Given the description of an element on the screen output the (x, y) to click on. 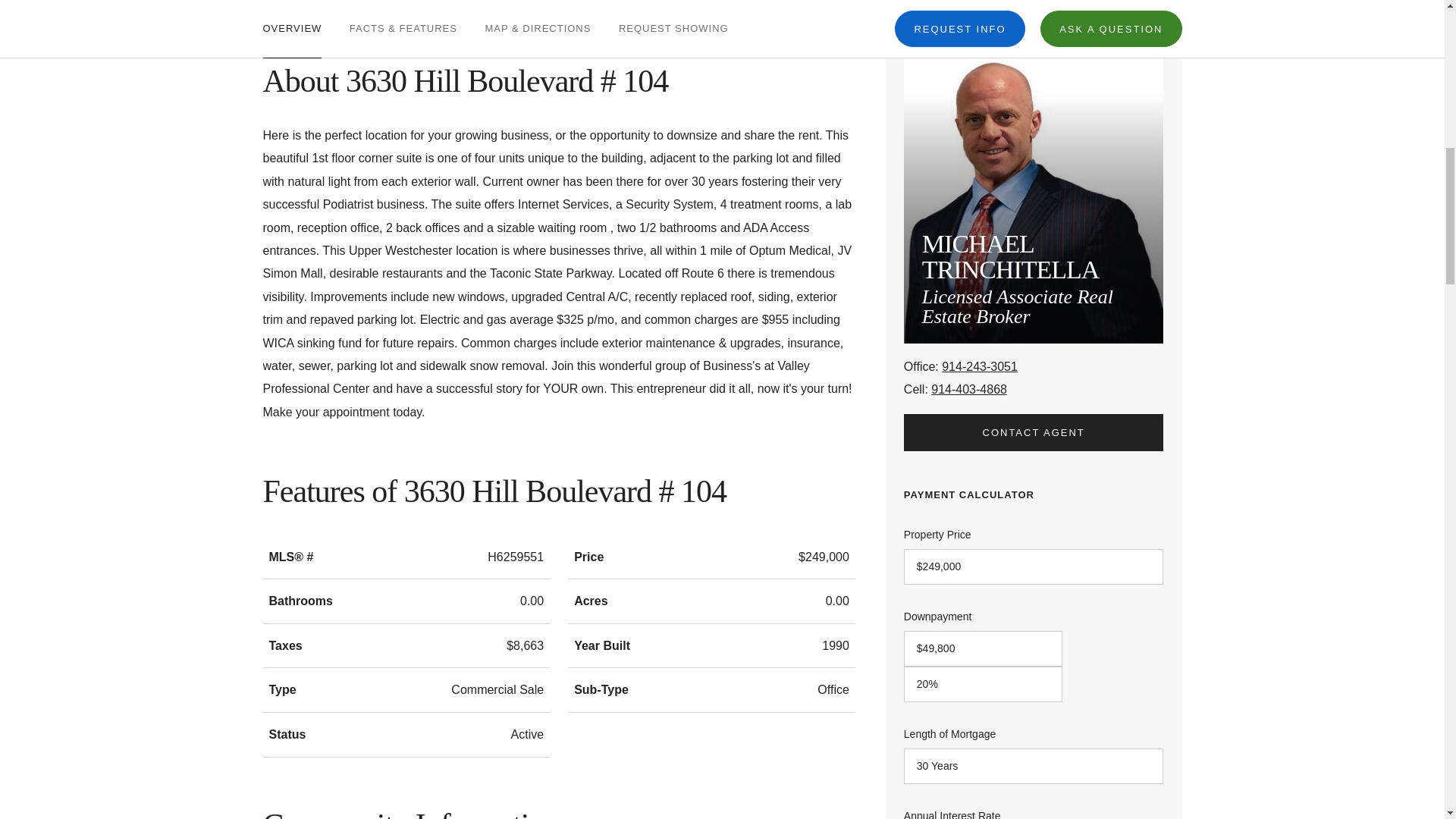
30 Years (1033, 765)
